Given the description of an element on the screen output the (x, y) to click on. 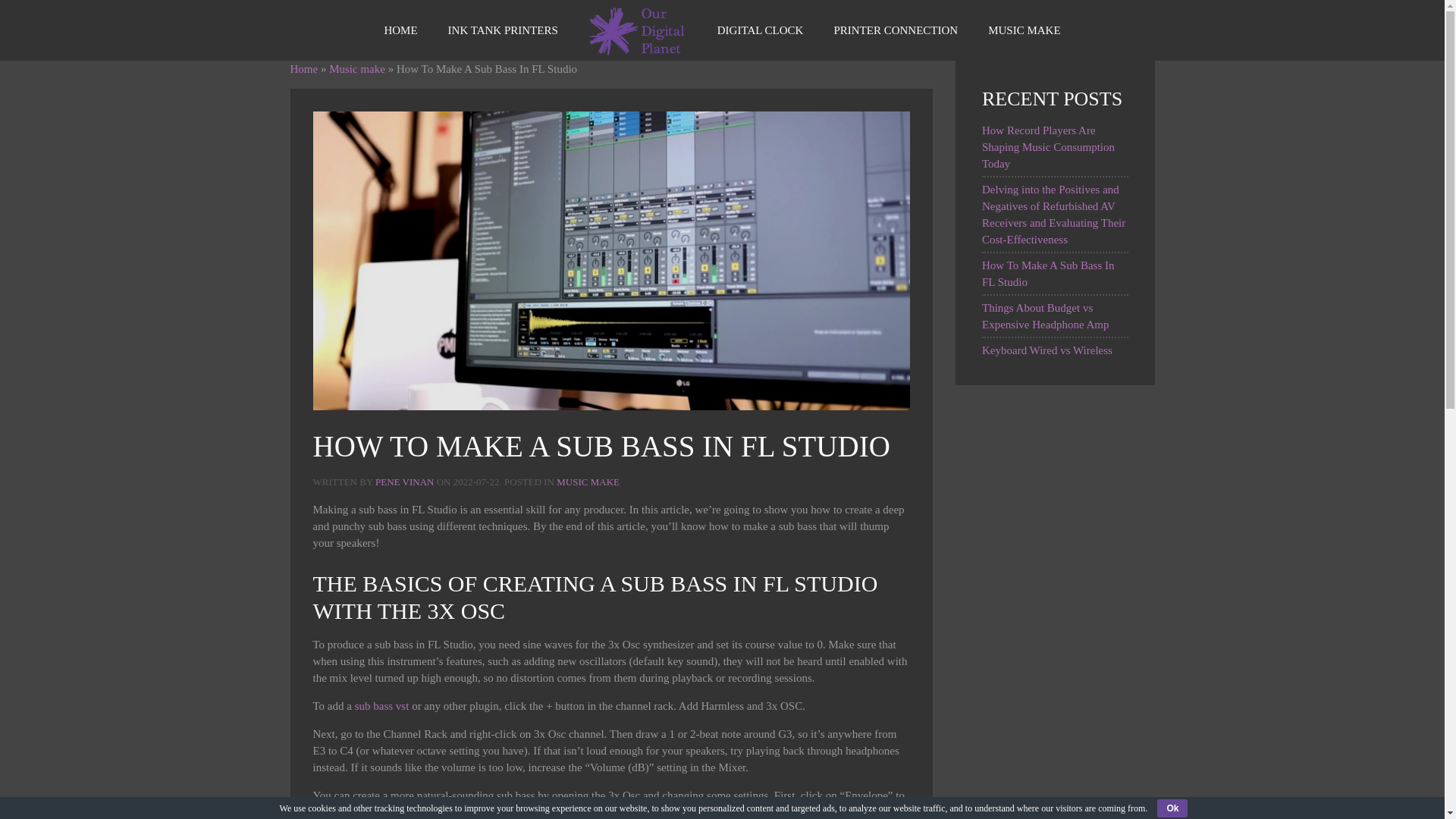
DIGITAL CLOCK (759, 30)
How To Make A Sub Bass In FL Studio (1048, 273)
How Record Players Are Shaping Music Consumption Today (1048, 146)
Home (303, 69)
Music make (357, 69)
Ok (1172, 808)
PENE VINAN (404, 481)
Keyboard Wired vs Wireless (1046, 349)
sub bass vst (382, 705)
HOME (400, 30)
